Given the description of an element on the screen output the (x, y) to click on. 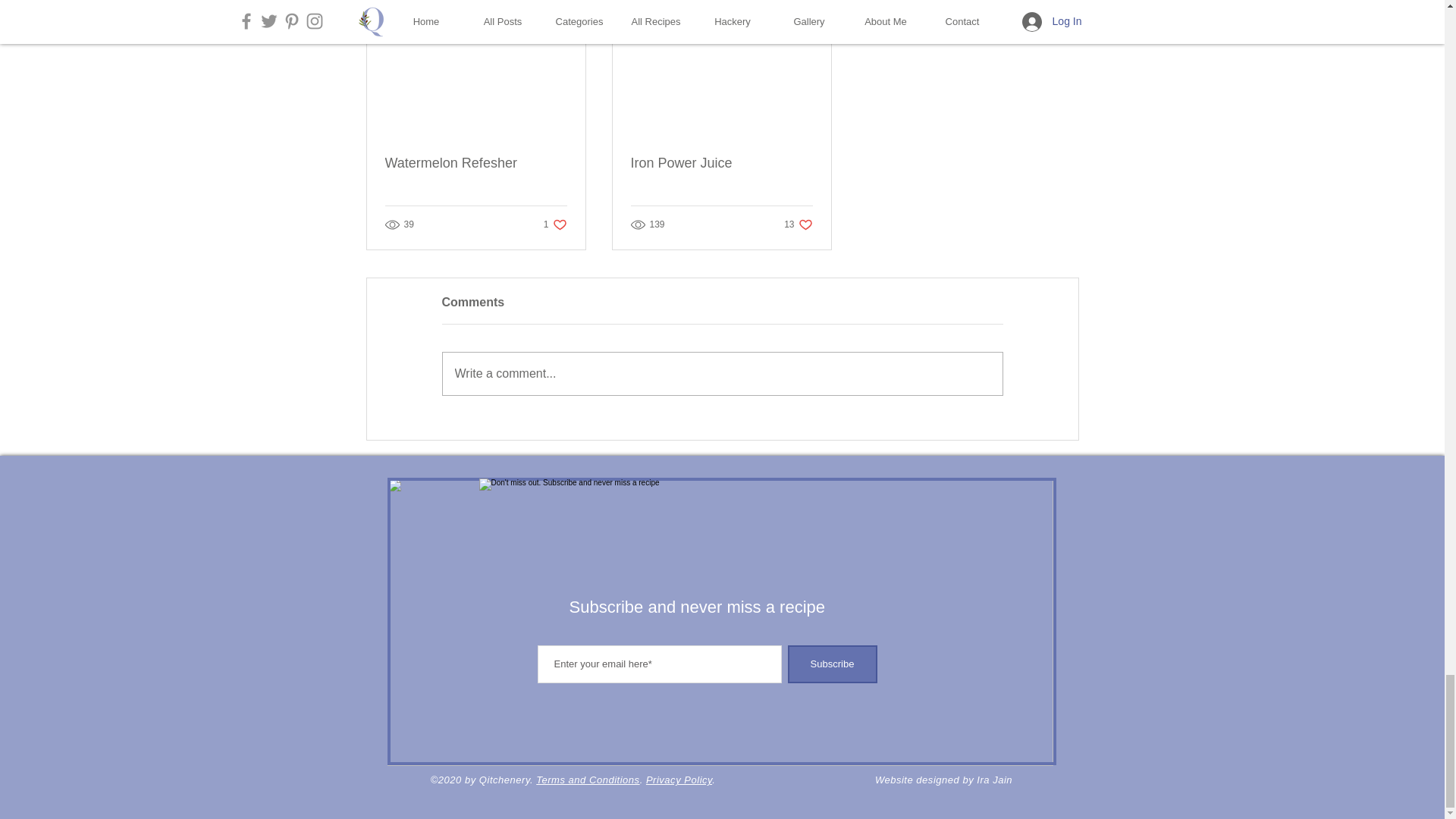
Watermelon Refesher (476, 163)
Iron Power Juice (721, 163)
